Given the description of an element on the screen output the (x, y) to click on. 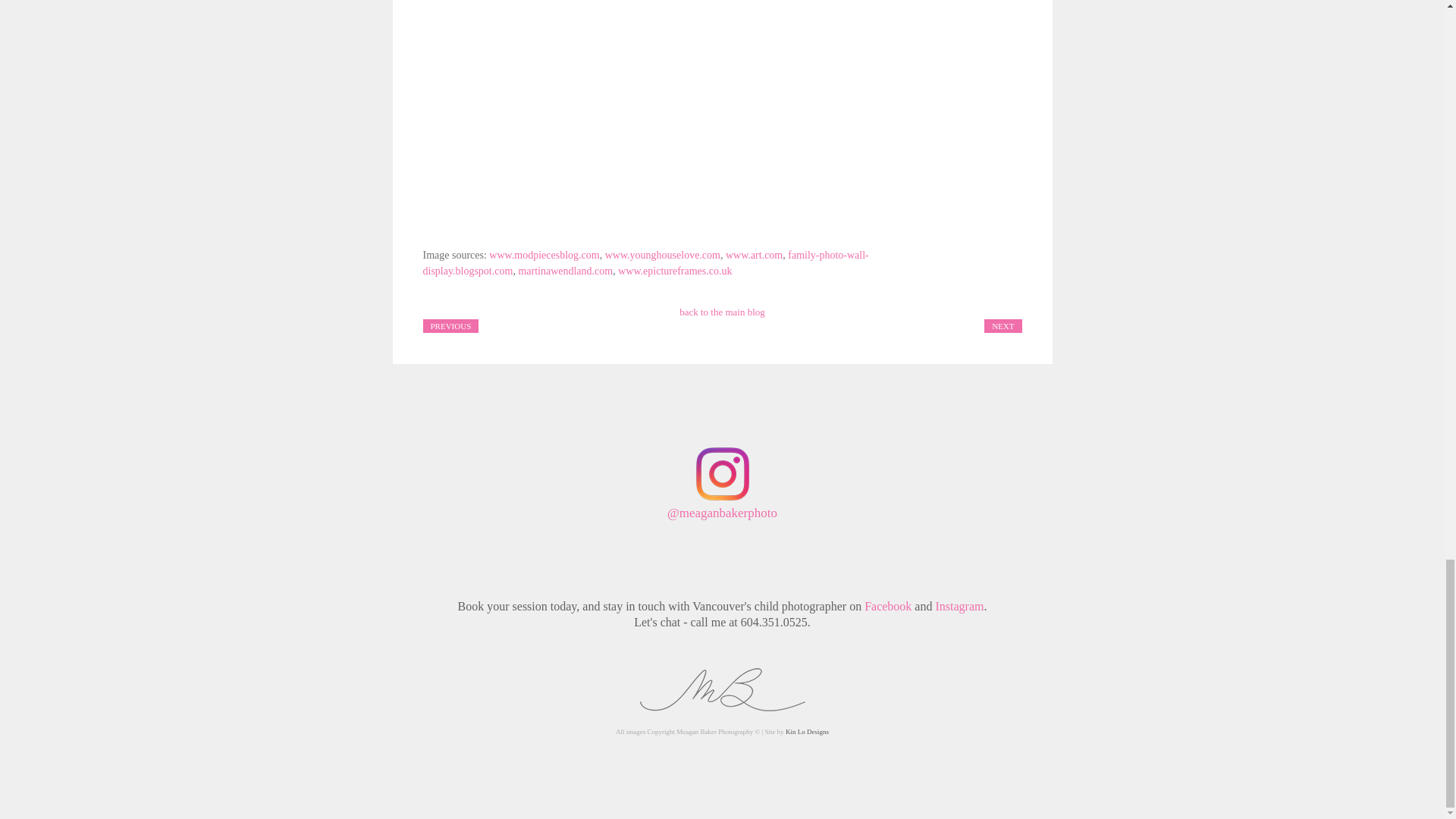
www.art.com (754, 255)
Kin Lo Designs (807, 731)
martinawendland.com (565, 270)
family-photo-wall-display.blogspot.com (646, 262)
www.younghouselove.com (662, 255)
NEXT (1003, 324)
back to the main blog (722, 311)
PREVIOUS (451, 324)
Facebook (887, 605)
Instagram (959, 605)
